Given the description of an element on the screen output the (x, y) to click on. 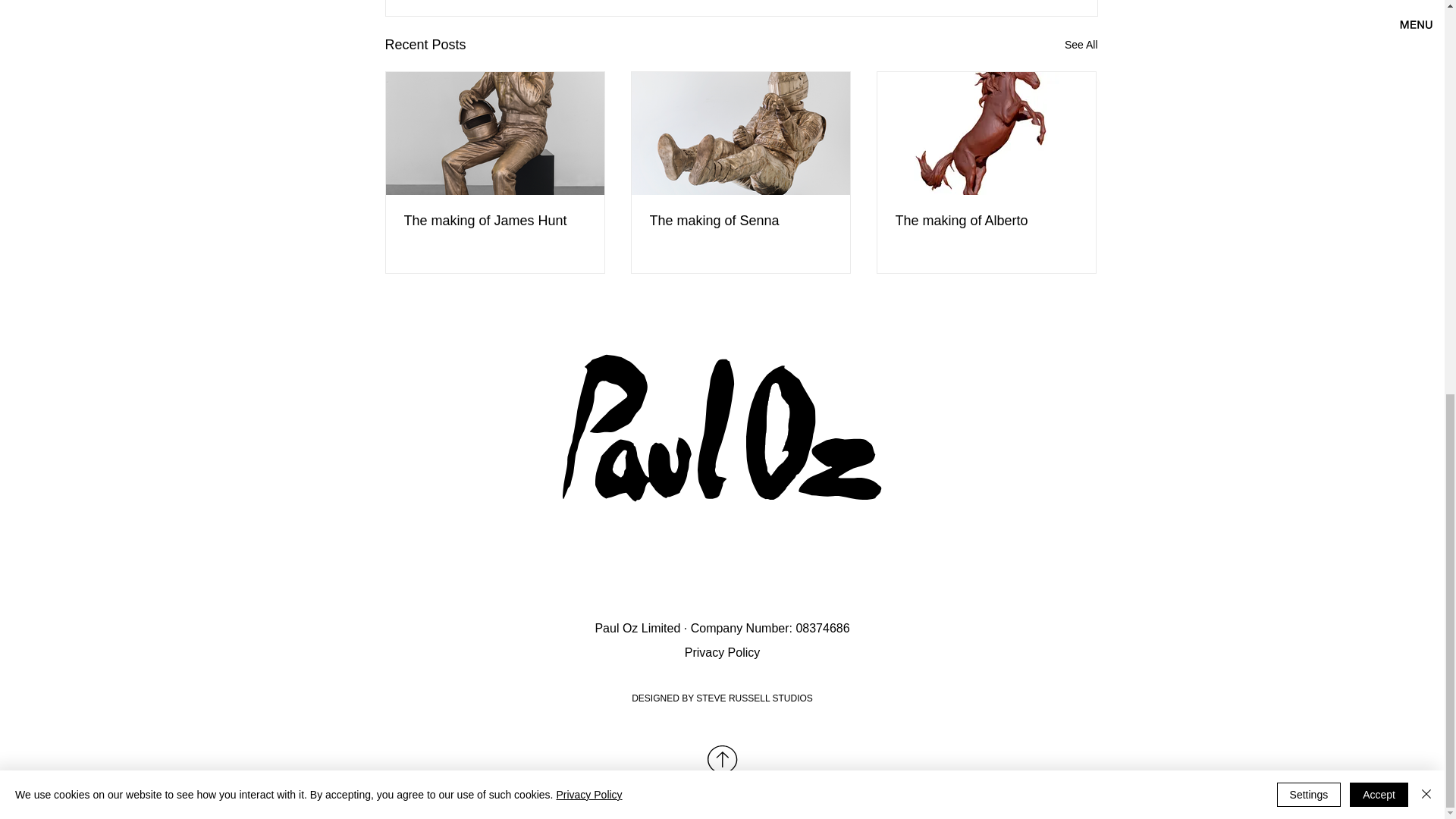
Privacy Policy (588, 36)
Settings (1308, 36)
DESIGNED BY STEVE RUSSELL STUDIOS (721, 697)
The making of Senna (740, 220)
See All (1080, 45)
Privacy Policy (722, 652)
The making of Alberto (986, 220)
Accept (1378, 36)
The making of James Hunt (494, 220)
